Given the description of an element on the screen output the (x, y) to click on. 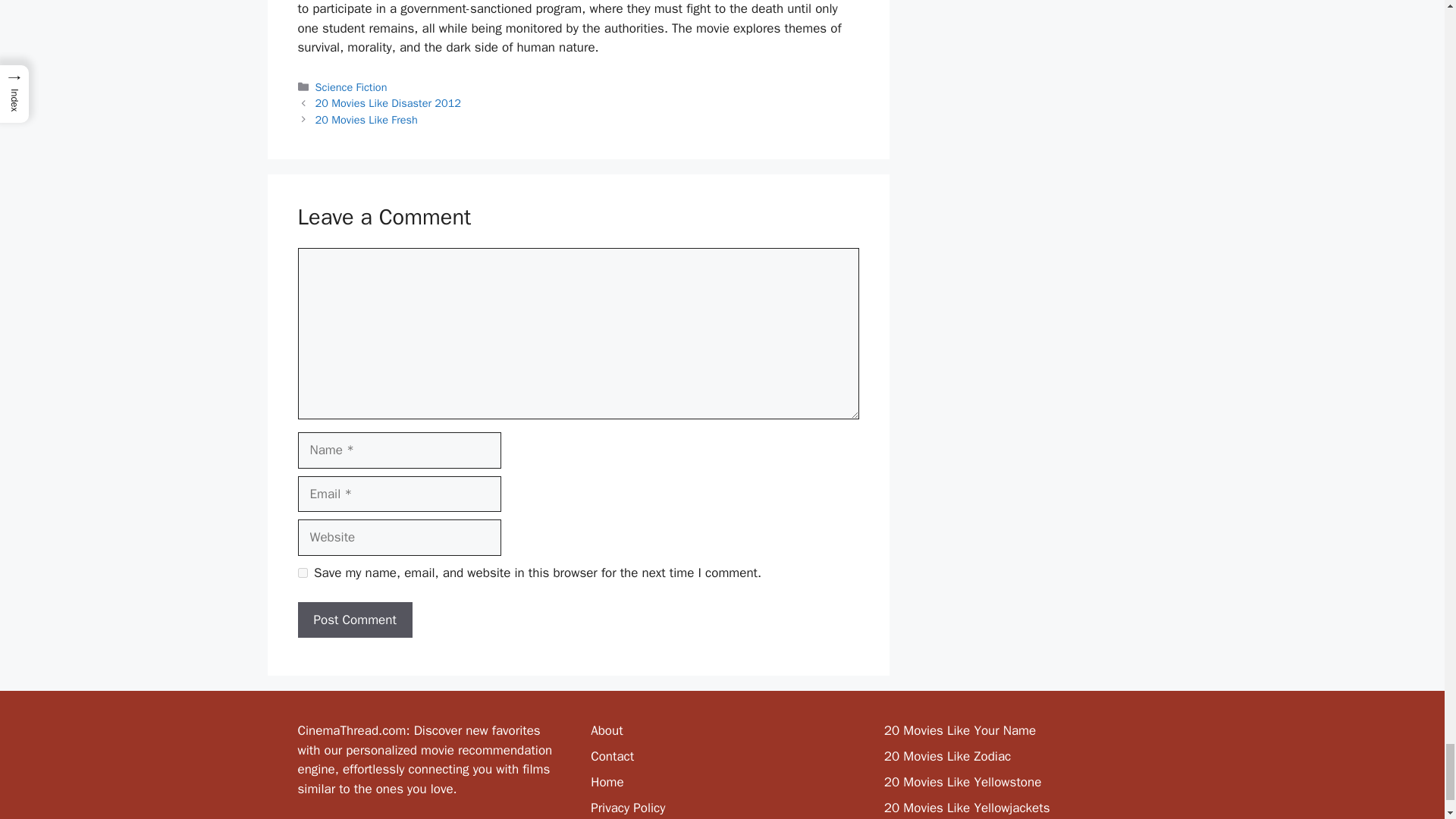
yes (302, 573)
Post Comment (354, 619)
